Given the description of an element on the screen output the (x, y) to click on. 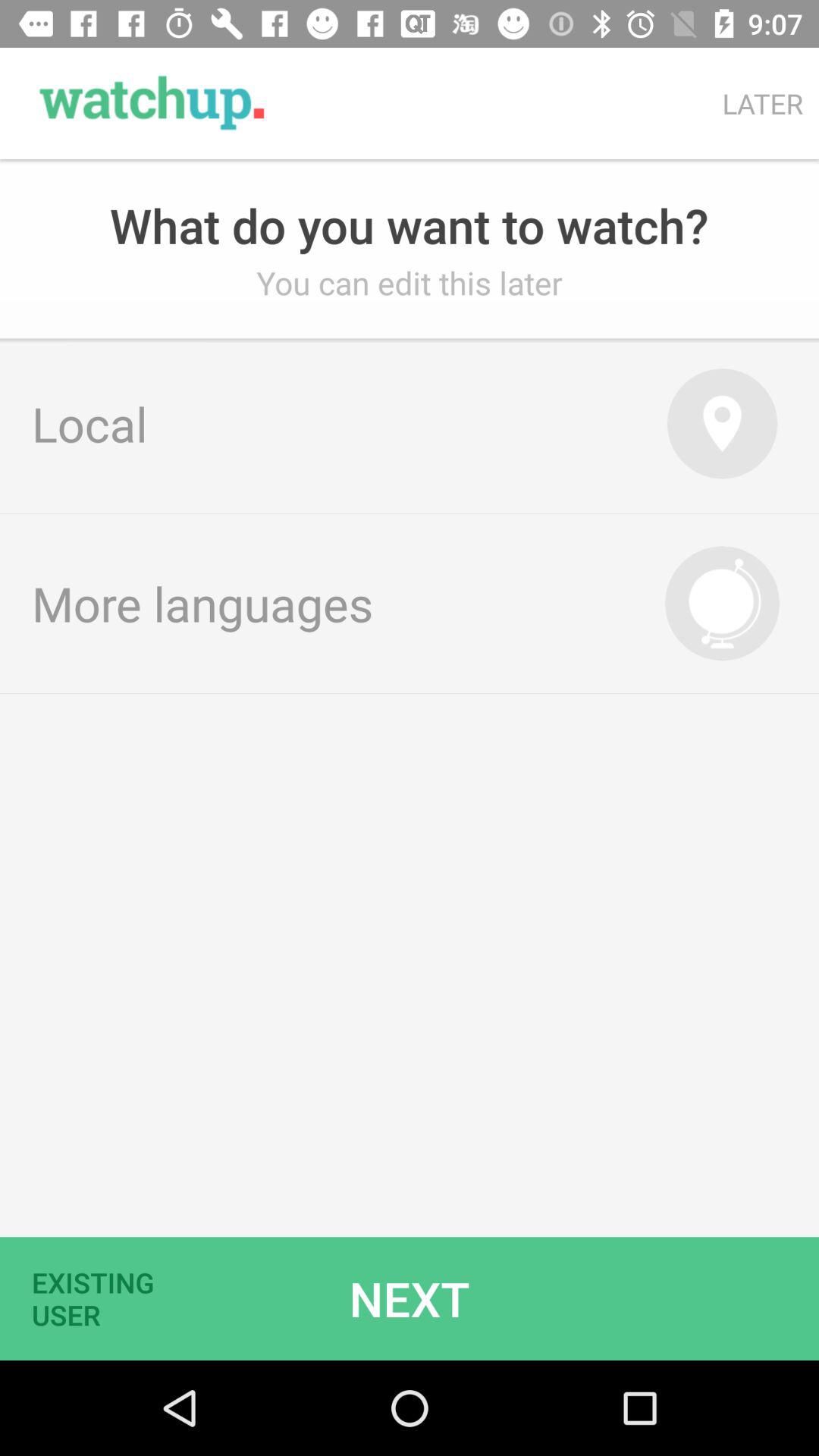
tap icon below the more languages (102, 1298)
